Given the description of an element on the screen output the (x, y) to click on. 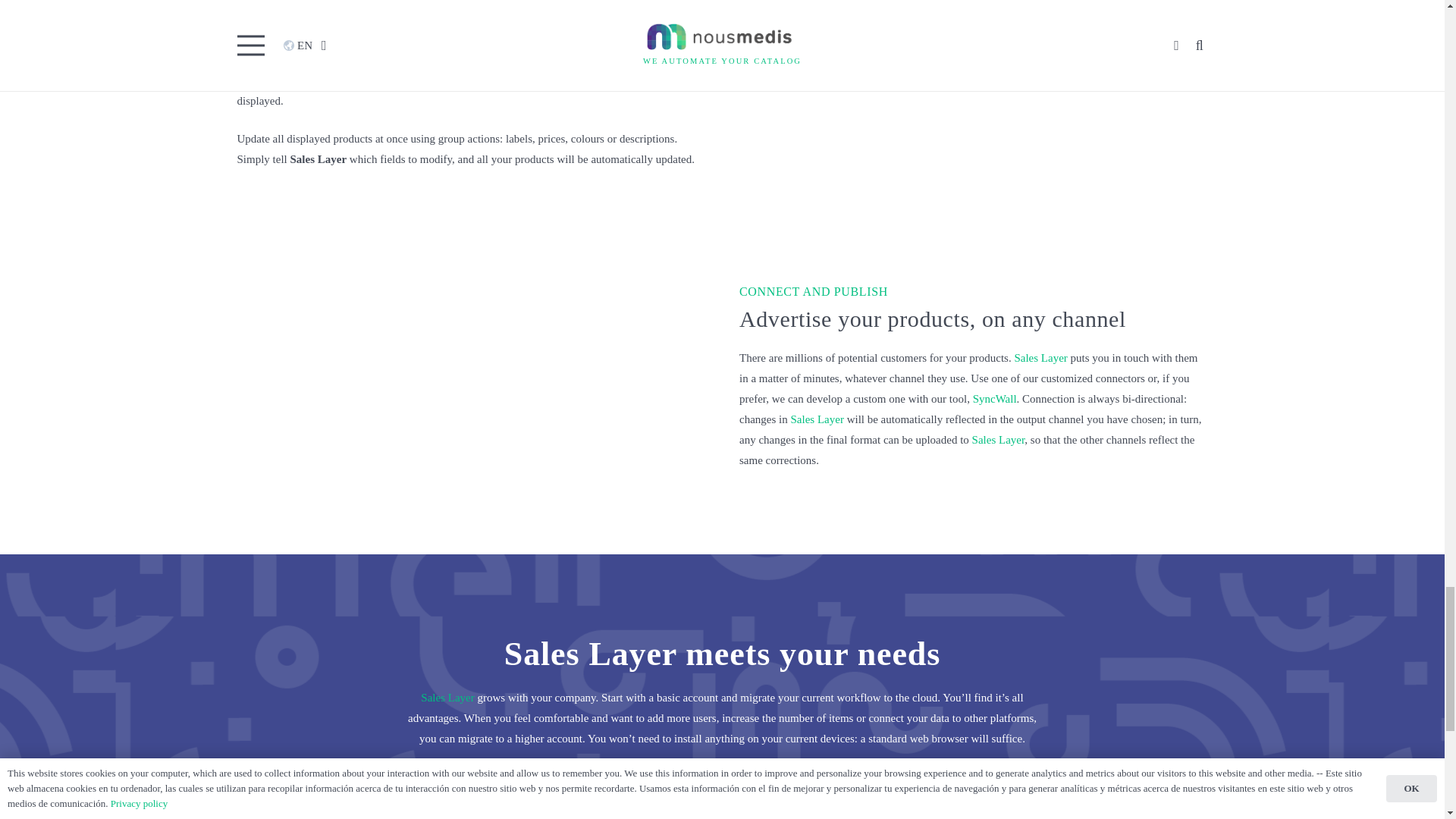
Sales Layer (998, 519)
Sales Layer (816, 499)
SyncWall (994, 478)
Sales Layer (447, 776)
Sales Layer (1040, 437)
Sales Layer (262, 98)
